Given the description of an element on the screen output the (x, y) to click on. 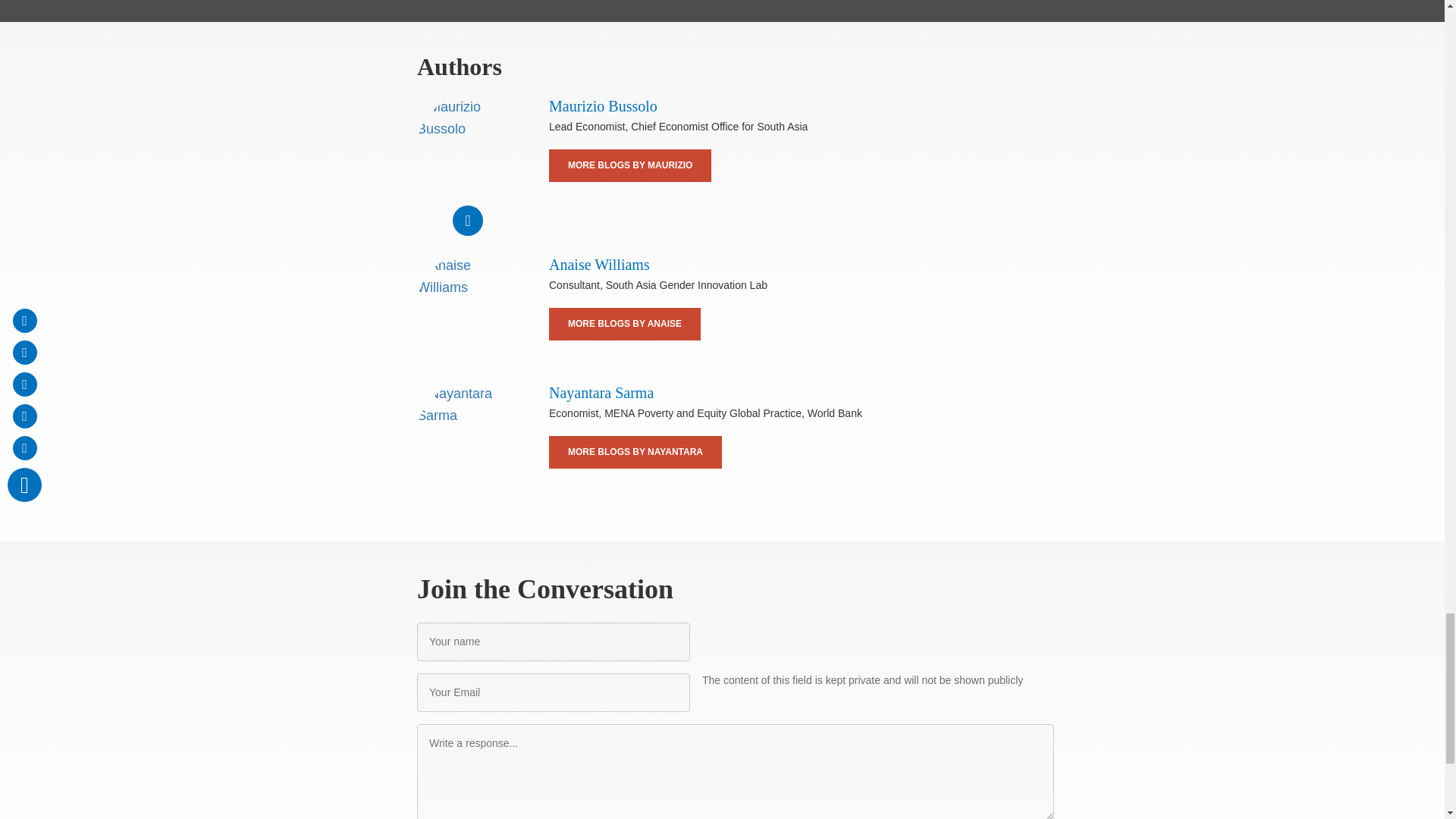
Nayantara Sarma (467, 433)
Maurizio Bussolo (467, 147)
MORE BLOGS BY MAURIZIO (629, 165)
Anaise Williams (467, 305)
Your name (553, 641)
Anaise Williams (598, 264)
Maurizio Bussolo (603, 105)
MORE BLOGS BY ANAISE (624, 323)
